Given the description of an element on the screen output the (x, y) to click on. 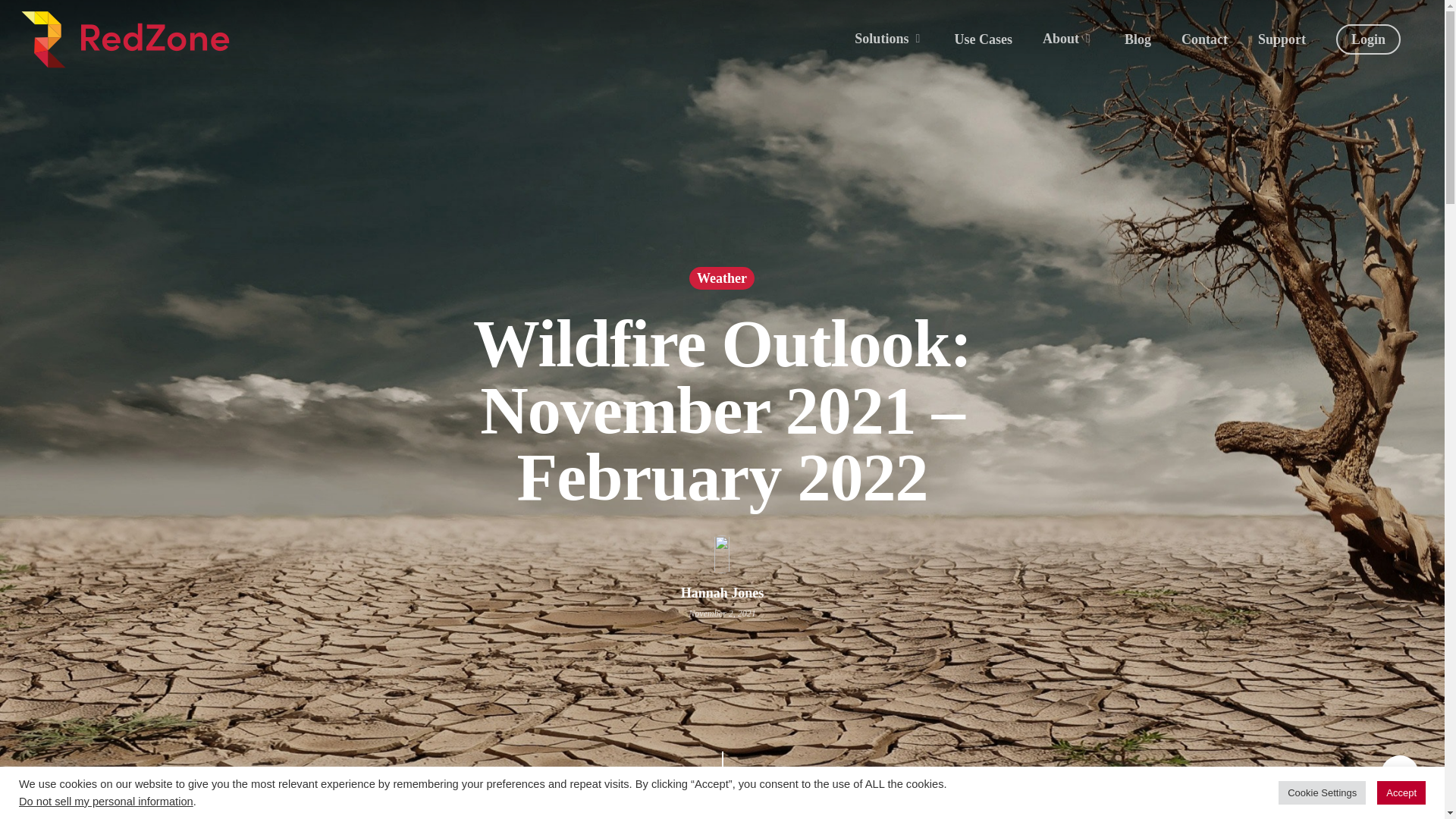
Hannah Jones (722, 604)
Contact (1203, 39)
Solutions (888, 38)
Support (1281, 39)
Use Cases (982, 39)
Login (1368, 39)
Posts by Hannah Jones (722, 592)
Blog (1137, 39)
About (1068, 38)
Weather (721, 290)
